Given the description of an element on the screen output the (x, y) to click on. 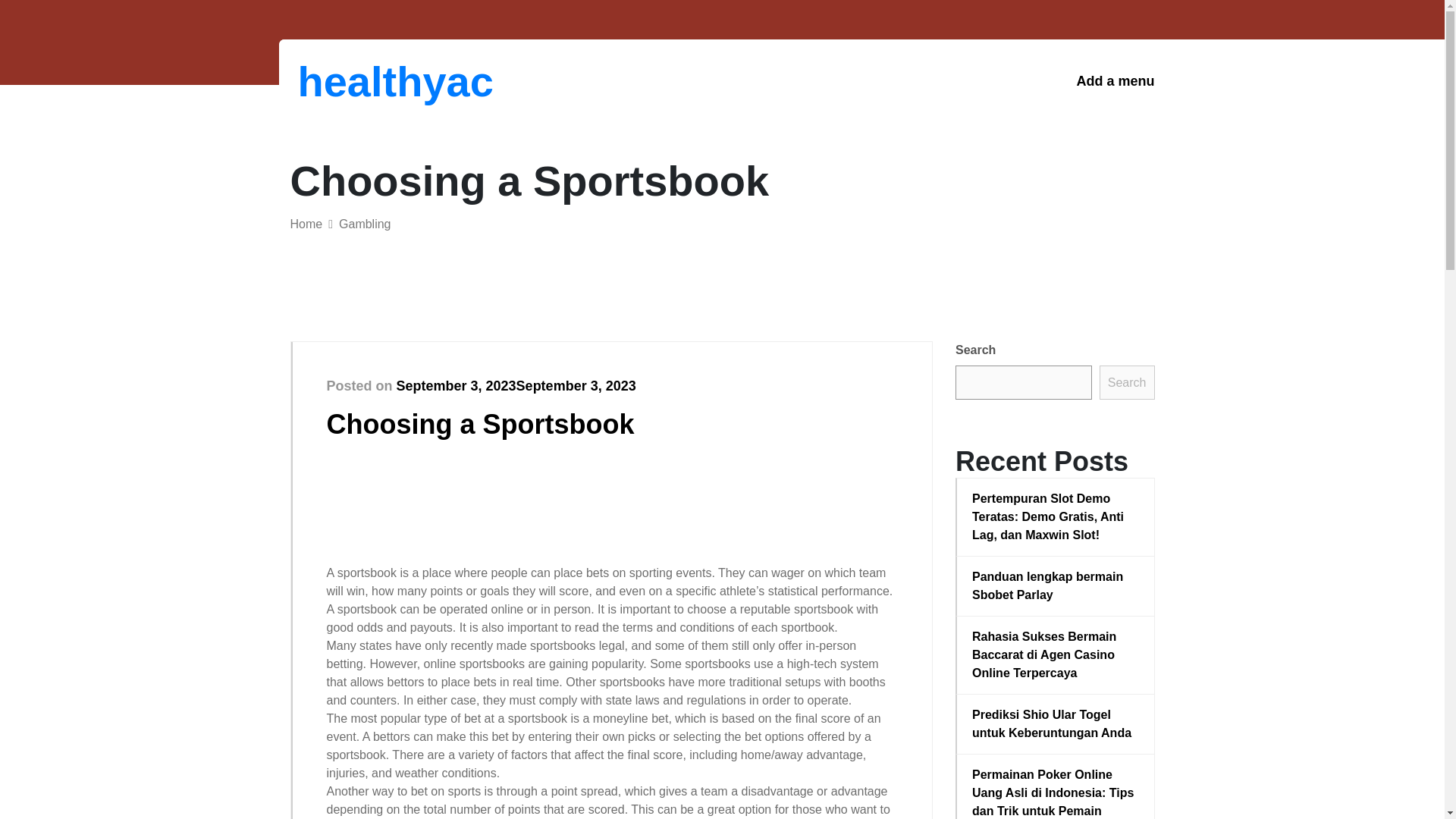
Search (1126, 382)
Home (305, 223)
Choosing a Sportsbook (479, 423)
September 3, 2023September 3, 2023 (516, 385)
Panduan lengkap bermain Sbobet Parlay (1055, 586)
Gambling (364, 223)
Add a menu (1114, 81)
healthyac (376, 81)
Prediksi Shio Ular Togel untuk Keberuntungan Anda (1055, 723)
